Given the description of an element on the screen output the (x, y) to click on. 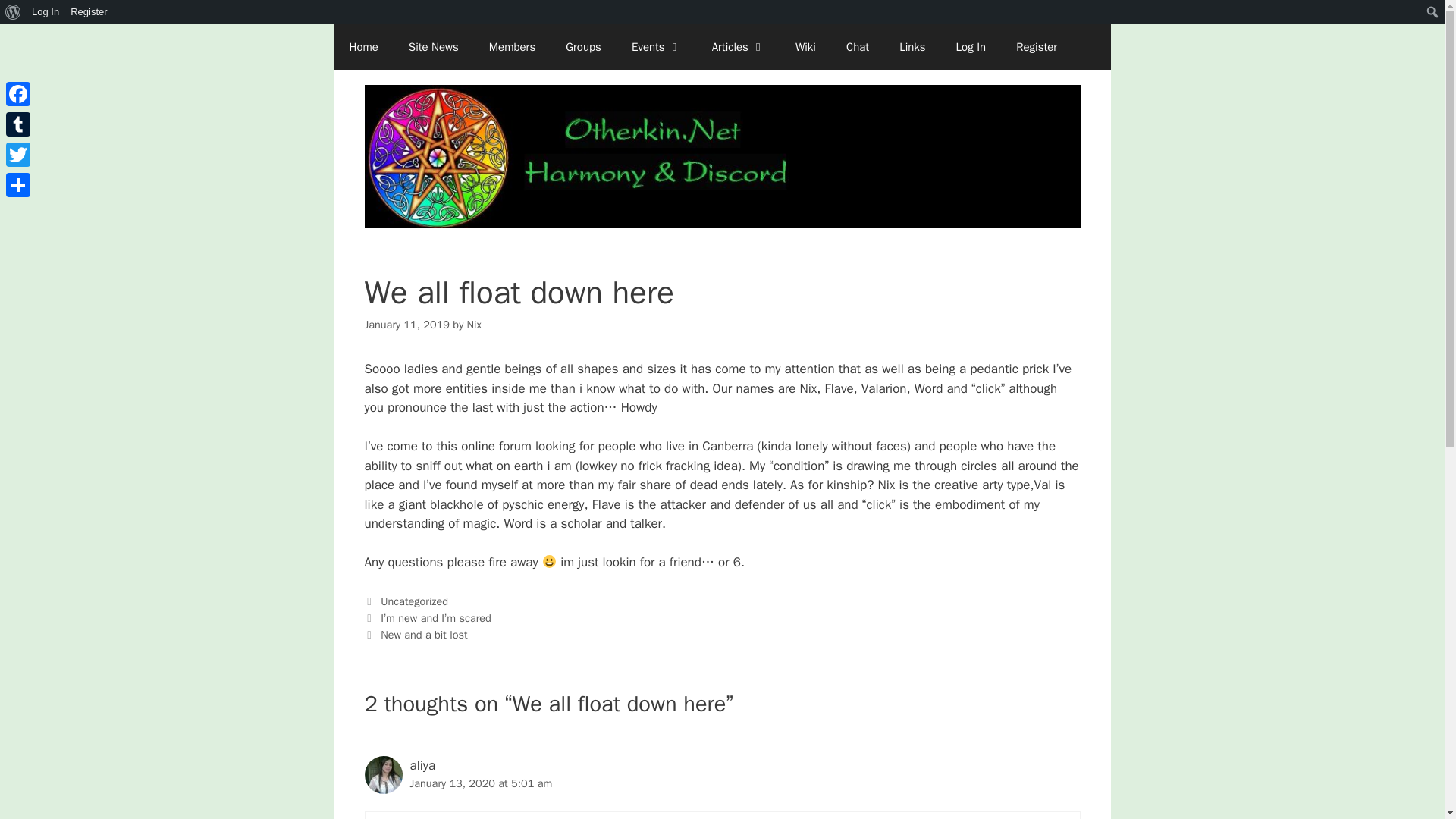
Links (911, 46)
Facebook (17, 93)
Tumblr (17, 123)
Twitter (17, 154)
New and a bit lost (423, 634)
Uncategorized (414, 601)
Chat (857, 46)
Site News (433, 46)
Articles (738, 46)
View all posts by Nix (474, 324)
